Given the description of an element on the screen output the (x, y) to click on. 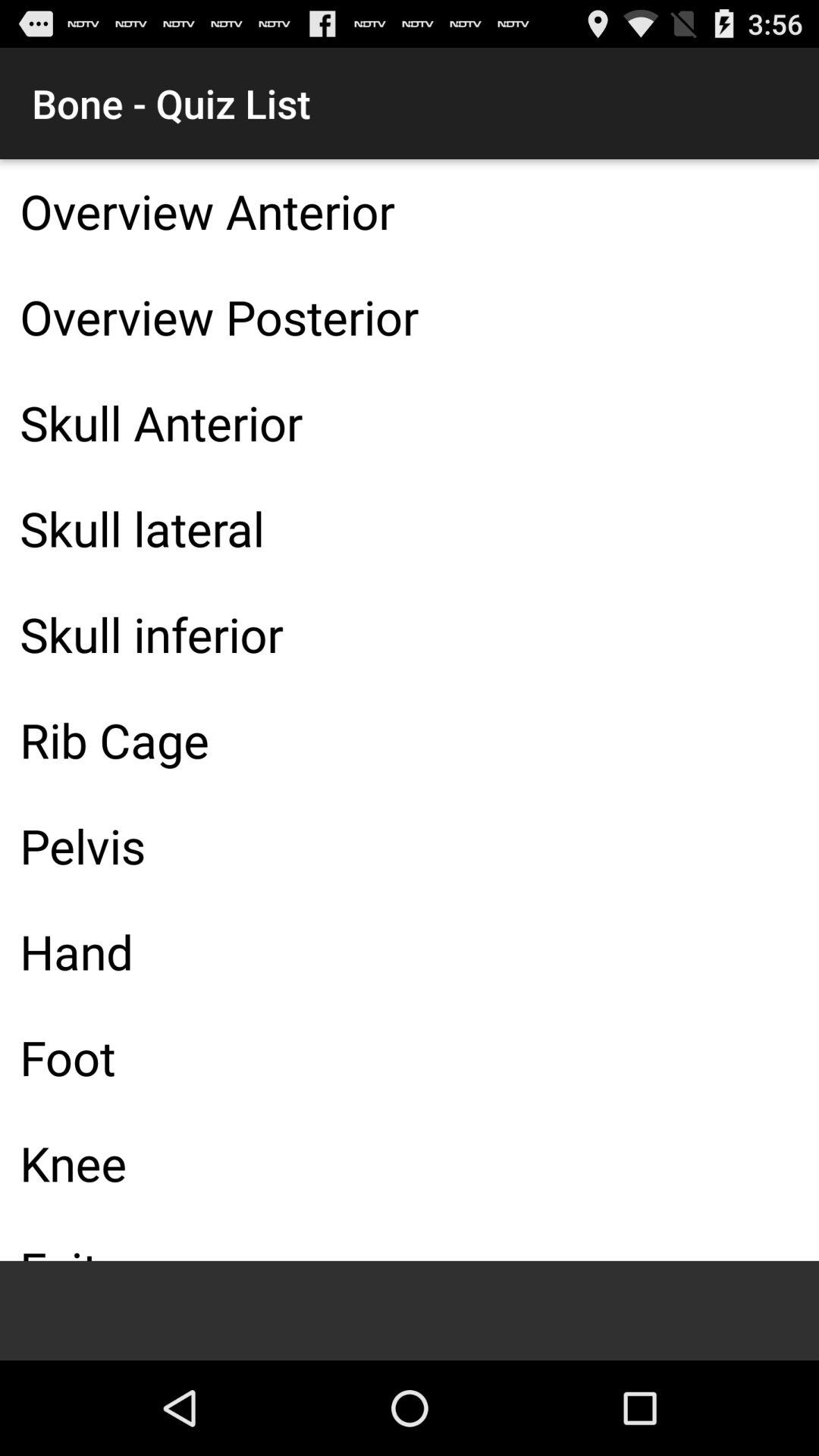
open exit app (409, 1238)
